Given the description of an element on the screen output the (x, y) to click on. 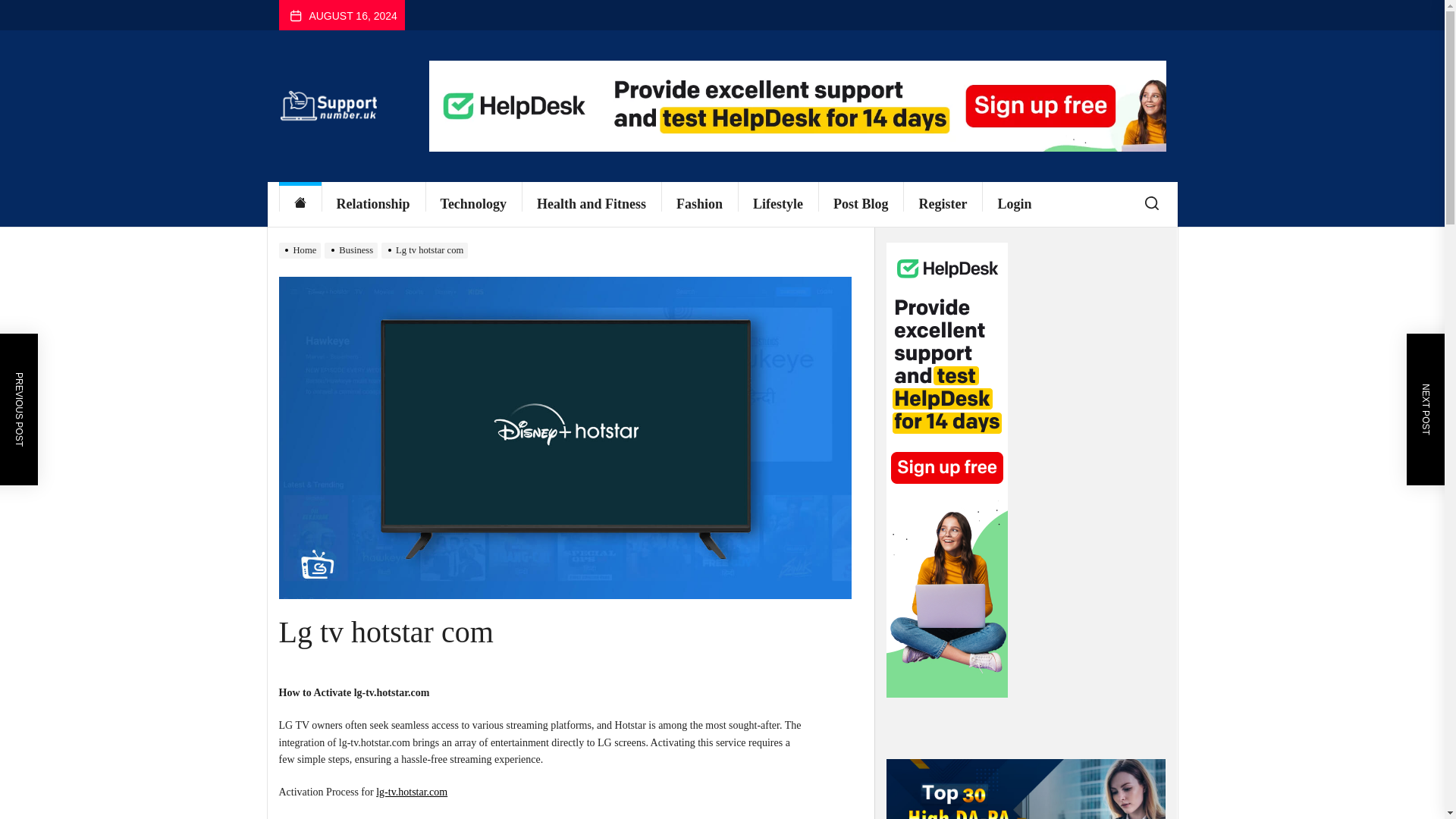
Relationship (373, 203)
Home (300, 203)
Lifestyle (778, 203)
Header AD Image (797, 105)
Register (941, 203)
Fashion (699, 203)
Post Blog (861, 203)
Technology (473, 203)
Health and Fitness (591, 203)
